Given the description of an element on the screen output the (x, y) to click on. 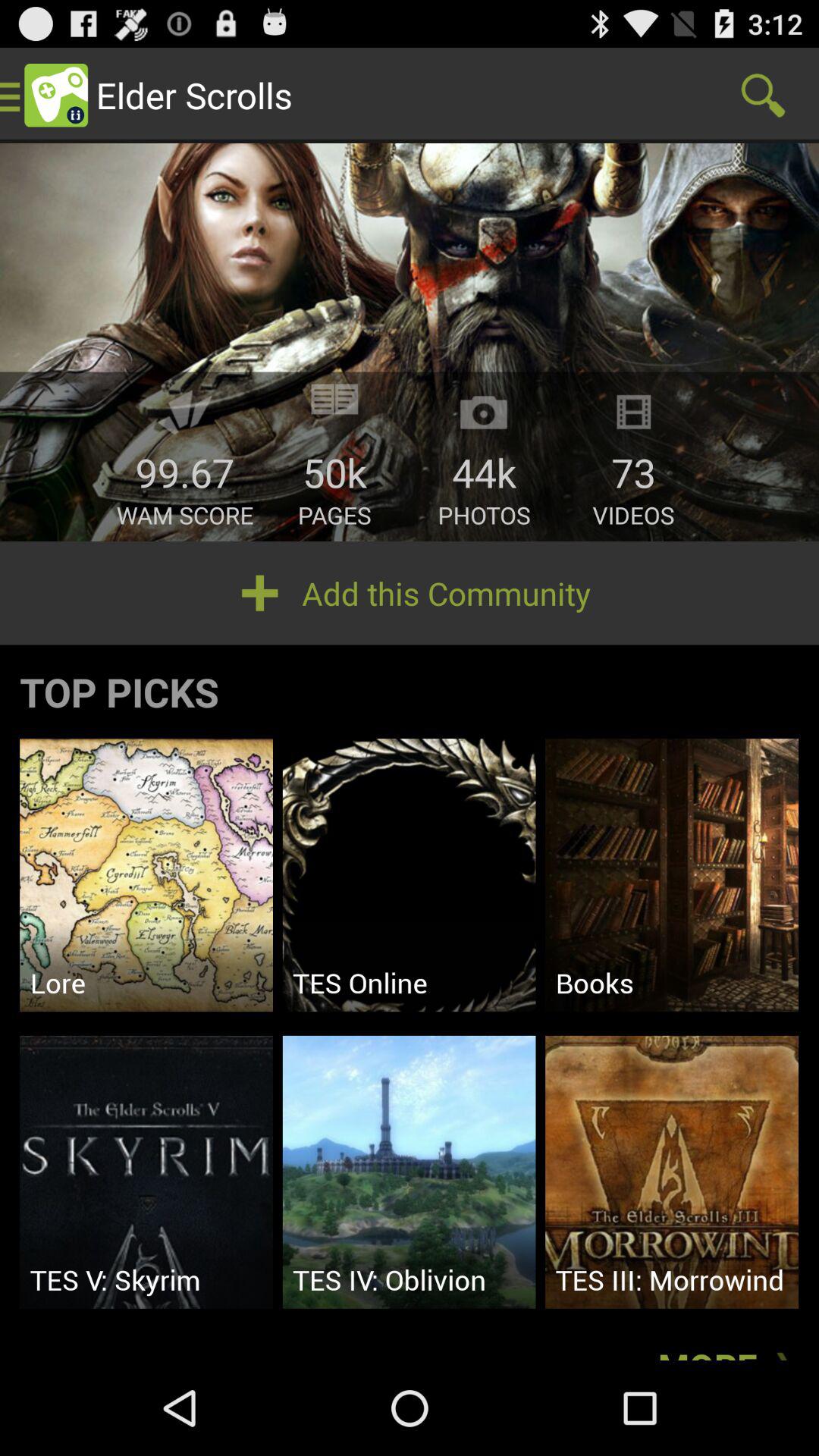
scroll to more item (728, 1339)
